Given the description of an element on the screen output the (x, y) to click on. 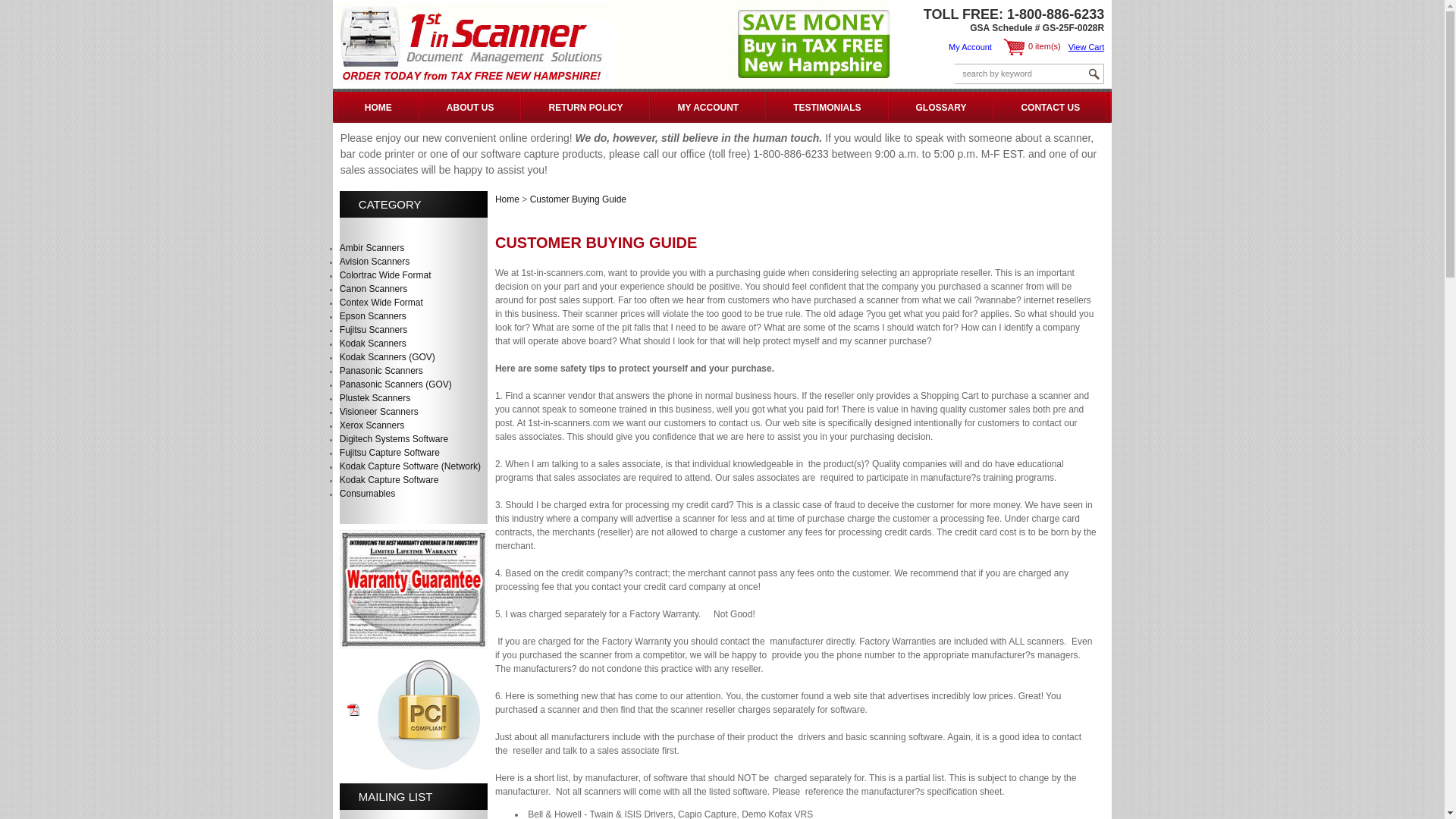
My Account Element type: text (969, 46)
Fujitsu Scanners Element type: text (373, 329)
Panasonic Scanners (GOV) Element type: text (395, 384)
Avision Scanners Element type: text (374, 261)
Kodak Capture Software Element type: text (389, 479)
Colortrac Wide Format Element type: text (385, 274)
Digitech Systems Software Element type: text (393, 438)
Contex Wide Format Element type: text (381, 302)
TESTIMONIALS Element type: text (826, 106)
Kodak Scanners (GOV) Element type: text (387, 356)
CONTACT US Element type: text (1050, 106)
ABOUT US Element type: text (470, 106)
Fujitsu Capture Software Element type: text (389, 452)
Ambir Scanners Element type: text (371, 247)
Panasonic Scanners Element type: text (381, 370)
GLOSSARY Element type: text (940, 106)
Epson Scanners Element type: text (372, 315)
View Cart Element type: text (1086, 46)
Plustek Scanners Element type: text (374, 397)
Customer Buying Guide Element type: text (578, 199)
HOME Element type: text (378, 106)
Kodak Scanners Element type: text (372, 343)
MY ACCOUNT Element type: text (707, 106)
Xerox Scanners Element type: text (371, 425)
Canon Scanners Element type: text (373, 288)
Visioneer Scanners Element type: text (378, 411)
RETURN POLICY Element type: text (585, 106)
Kodak Capture Software (Network) Element type: text (409, 466)
Home Element type: text (507, 199)
Document Management Solutions, Inc - 1st in Scanners Element type: hover (611, 85)
Consumables Element type: text (367, 493)
